Given the description of an element on the screen output the (x, y) to click on. 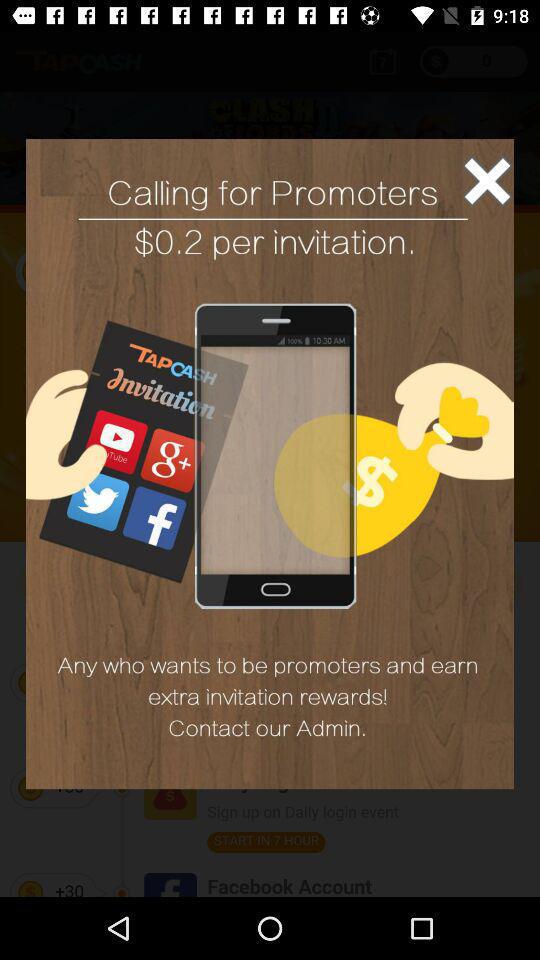
exit advertisement (487, 180)
